Given the description of an element on the screen output the (x, y) to click on. 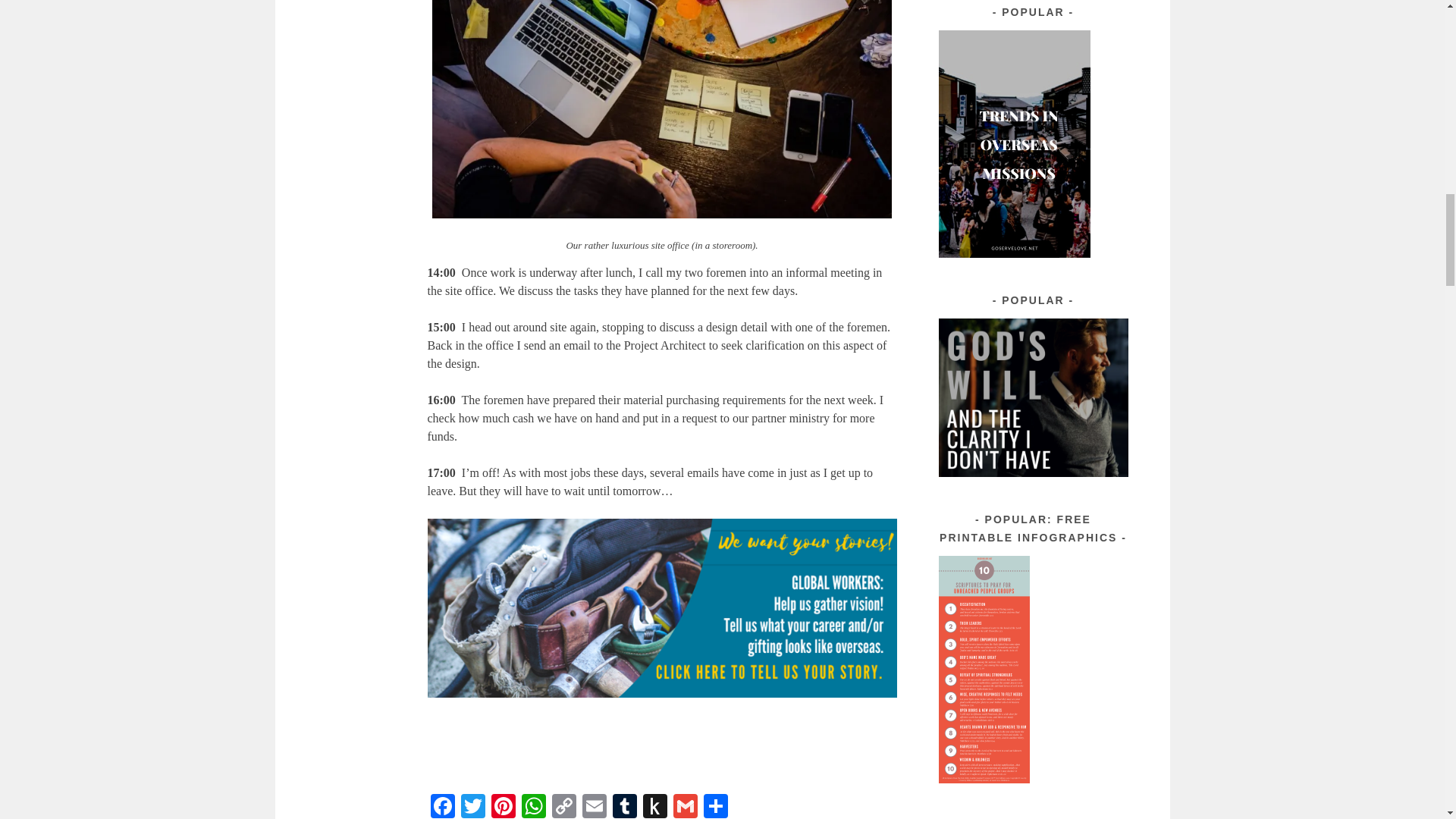
Push to Kindle (654, 806)
Gmail (684, 806)
Facebook (443, 806)
Email (594, 806)
Twitter (472, 806)
WhatsApp (533, 806)
Email (594, 806)
Gmail (684, 806)
WhatsApp (533, 806)
Tumblr (625, 806)
